Given the description of an element on the screen output the (x, y) to click on. 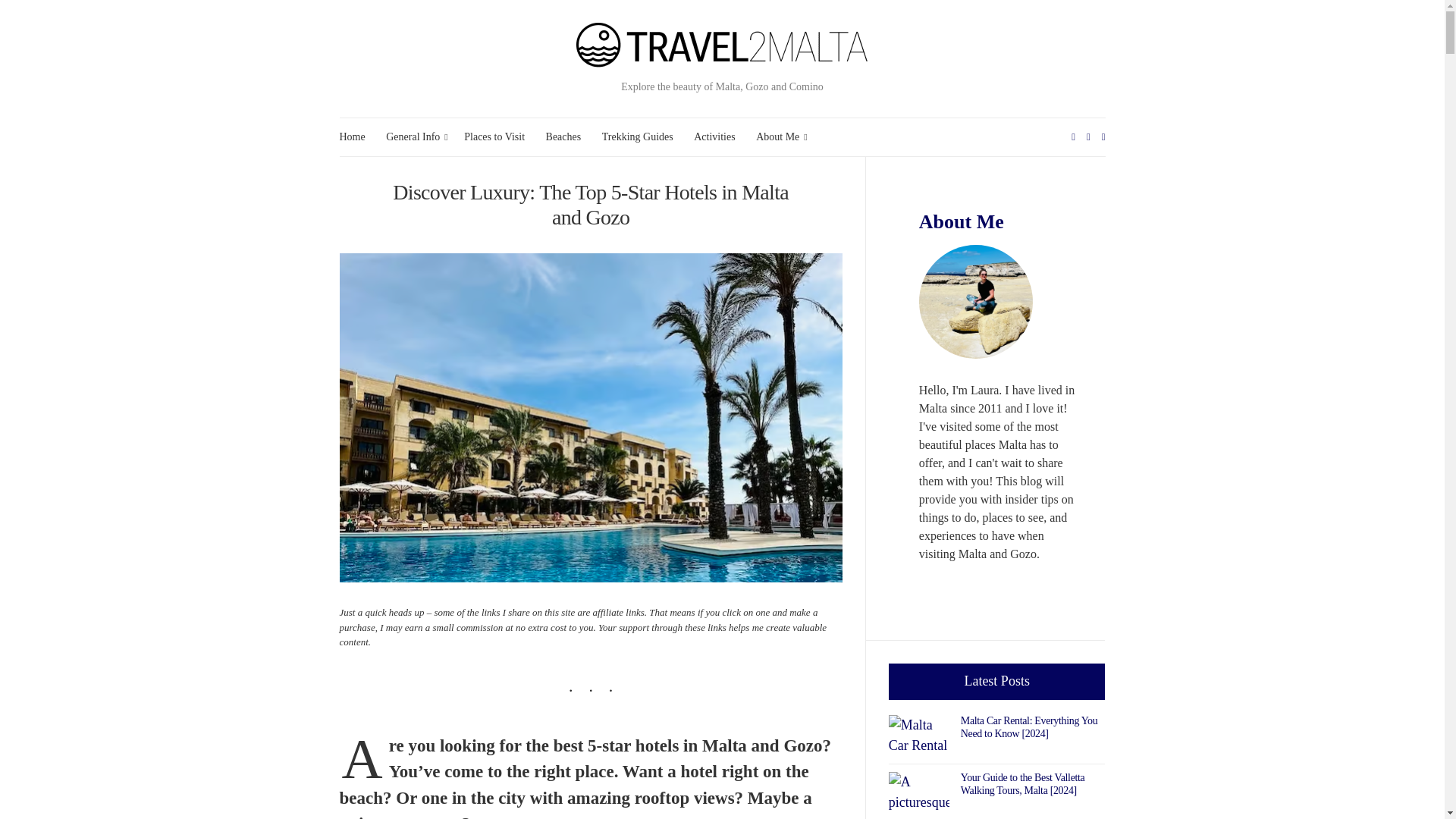
Trekking Guides (637, 136)
About Me (779, 136)
Beaches (563, 136)
General Info (414, 136)
Activities (714, 136)
Places to Visit (494, 136)
Expand search form (1103, 136)
Home (352, 136)
